Given the description of an element on the screen output the (x, y) to click on. 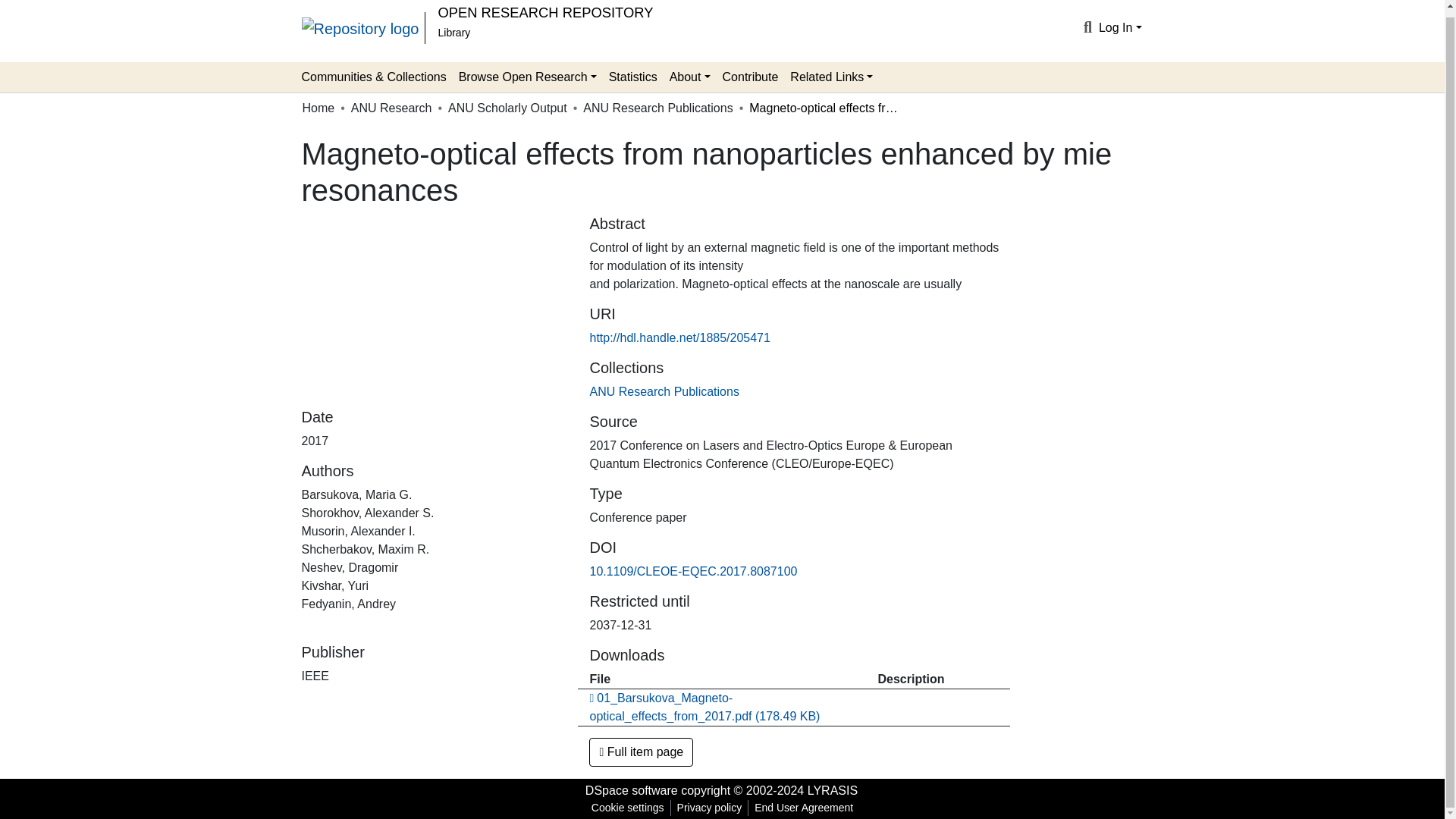
Privacy policy (709, 807)
ANU Research Publications (657, 108)
Statistics (632, 77)
Log In (1119, 27)
Full item page (641, 751)
Contribute (750, 77)
End User Agreement (803, 807)
Cookie settings (627, 807)
About (689, 77)
ANU Scholarly Output (507, 108)
